Given the description of an element on the screen output the (x, y) to click on. 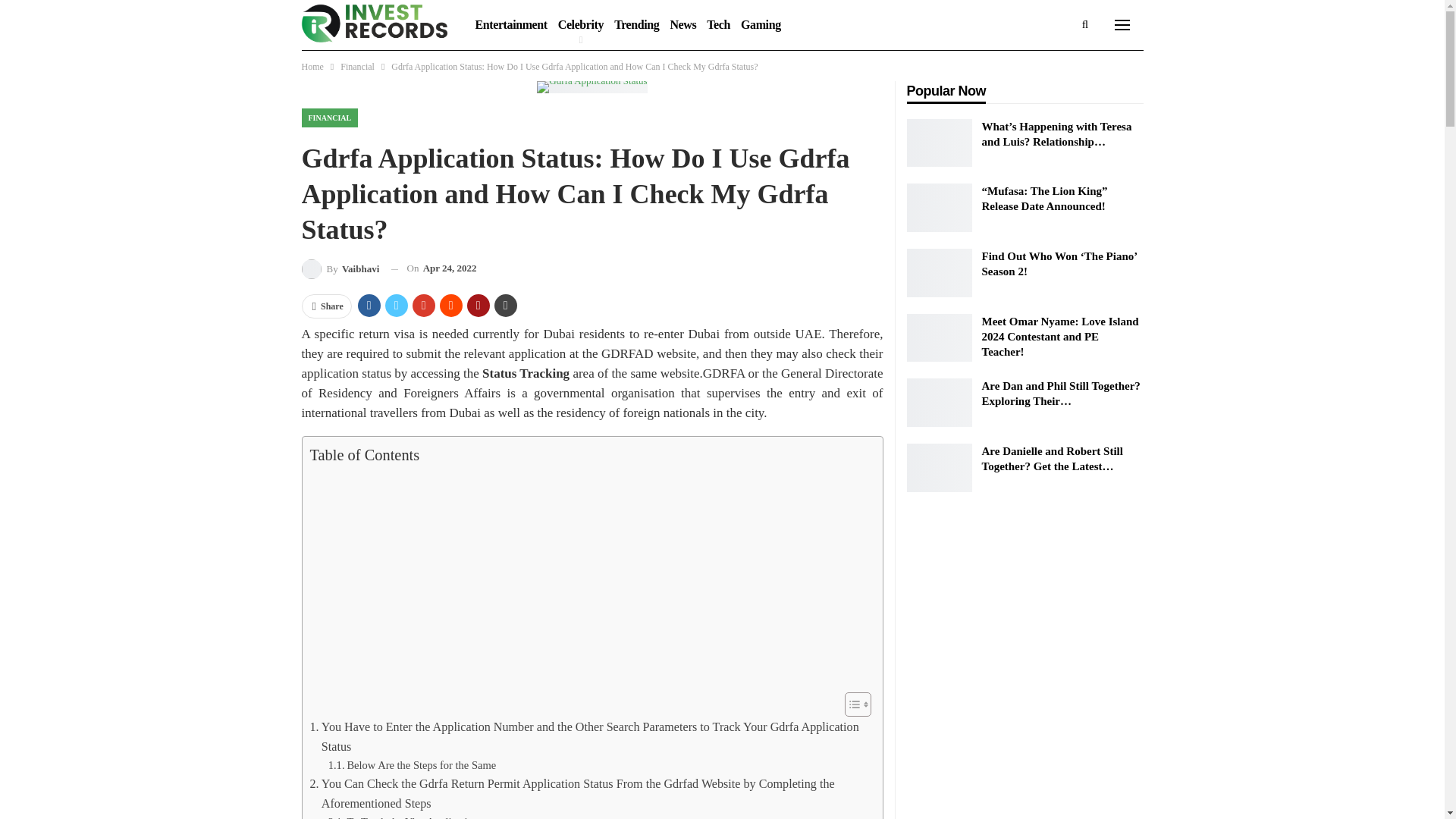
Home (312, 66)
FINANCIAL (329, 117)
Entertainment (511, 24)
Gaming (760, 24)
To Track the Visa Application (404, 816)
Financial (357, 66)
Celebrity (580, 24)
